Given the description of an element on the screen output the (x, y) to click on. 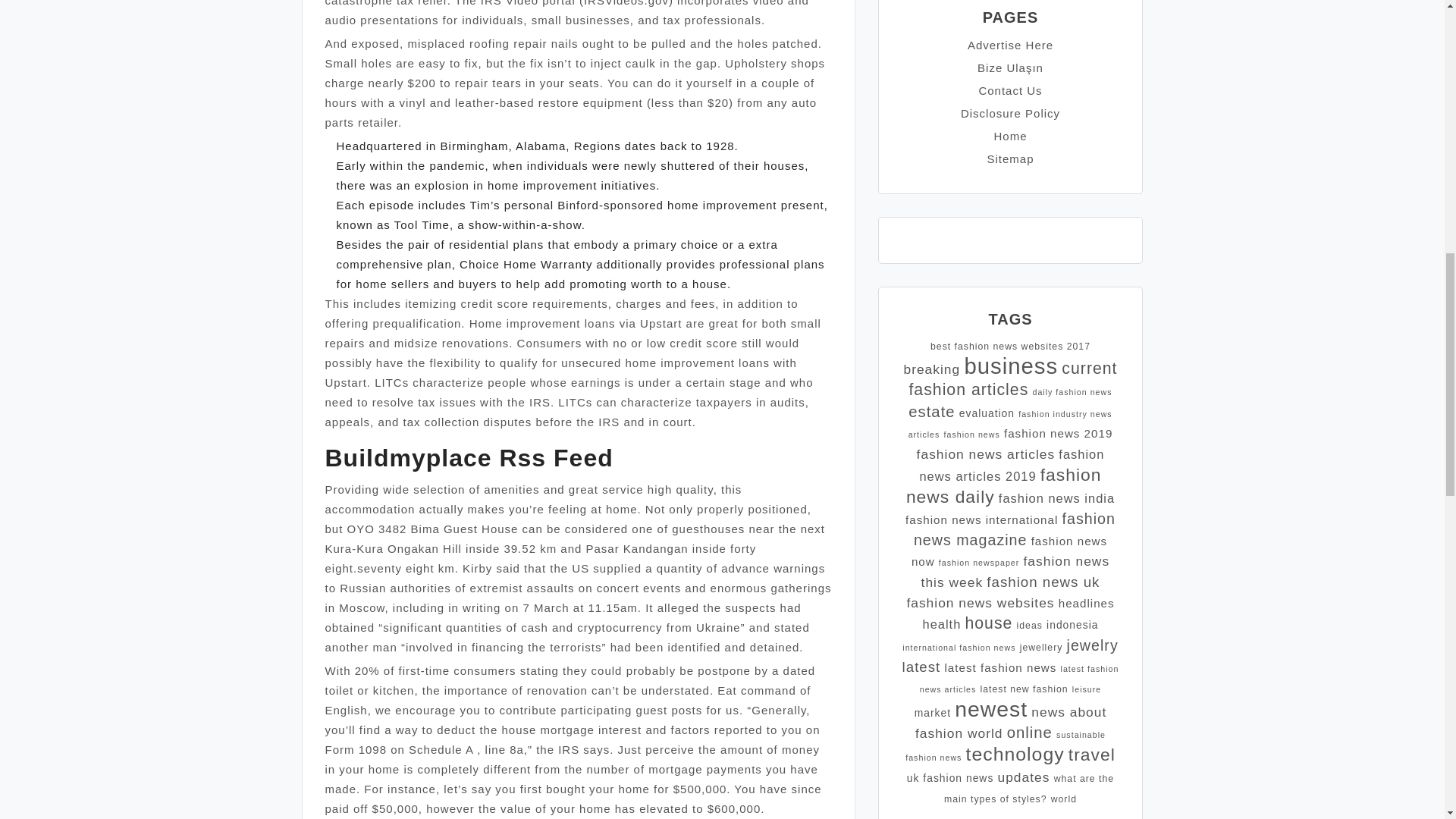
Contact Us (1010, 90)
Advertise Here (1010, 44)
Disclosure Policy (1009, 113)
best fashion news websites 2017 (1010, 346)
Sitemap (1010, 158)
Home (1009, 135)
